Given the description of an element on the screen output the (x, y) to click on. 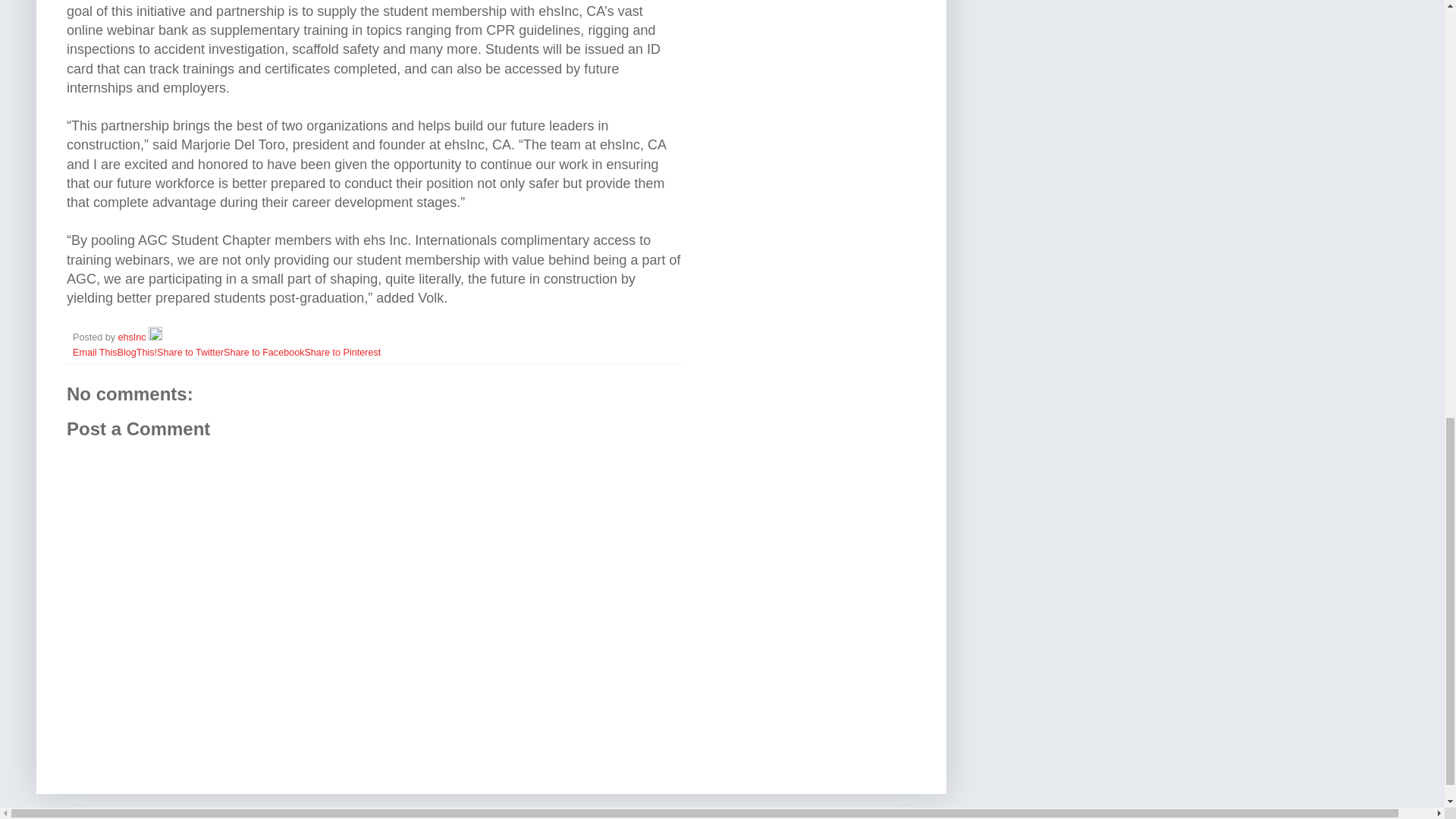
author profile (133, 337)
BlogThis! (137, 352)
BlogThis! (137, 352)
Share to Twitter (190, 352)
Share to Pinterest (342, 352)
Share to Facebook (264, 352)
Email This (94, 352)
Share to Pinterest (342, 352)
ehsInc (133, 337)
Share to Facebook (264, 352)
Share to Twitter (190, 352)
Edit Post (154, 337)
Email This (94, 352)
